Given the description of an element on the screen output the (x, y) to click on. 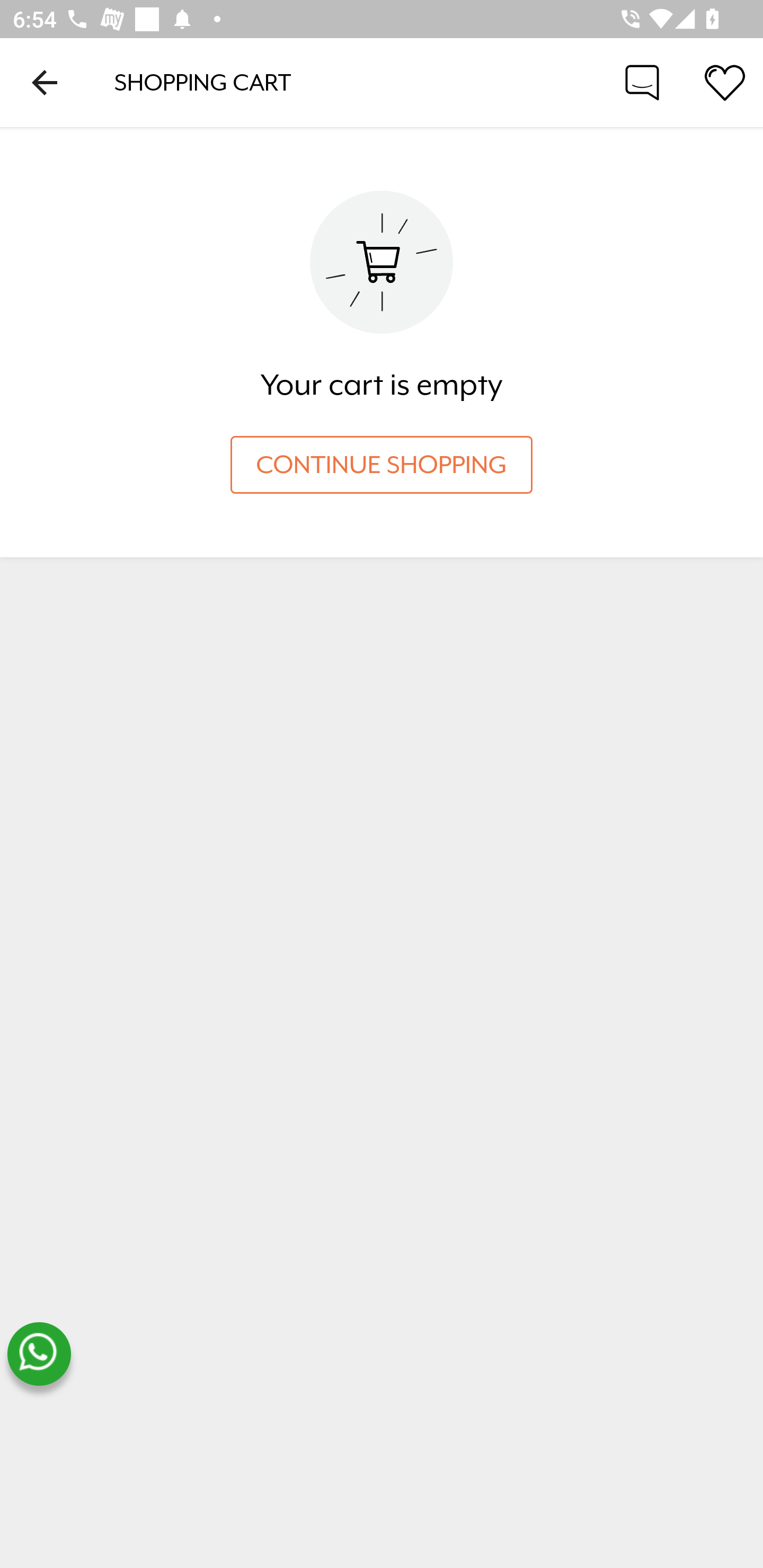
Navigate up (44, 82)
Chat (641, 81)
Wishlist (724, 81)
CONTINUE SHOPPING (381, 464)
whatsapp (38, 1353)
